Given the description of an element on the screen output the (x, y) to click on. 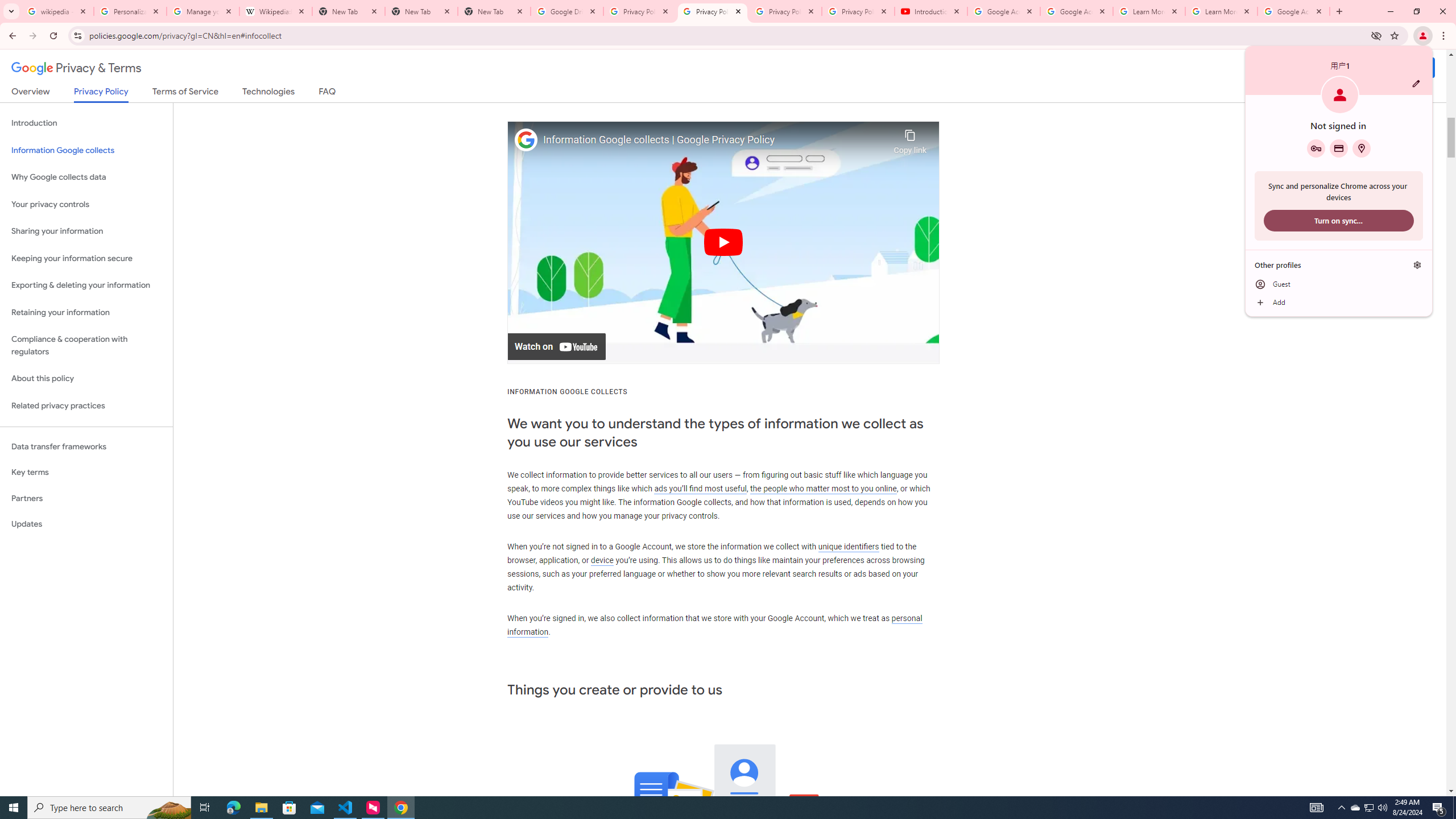
Type here to search (108, 807)
Task View (204, 807)
